Given the description of an element on the screen output the (x, y) to click on. 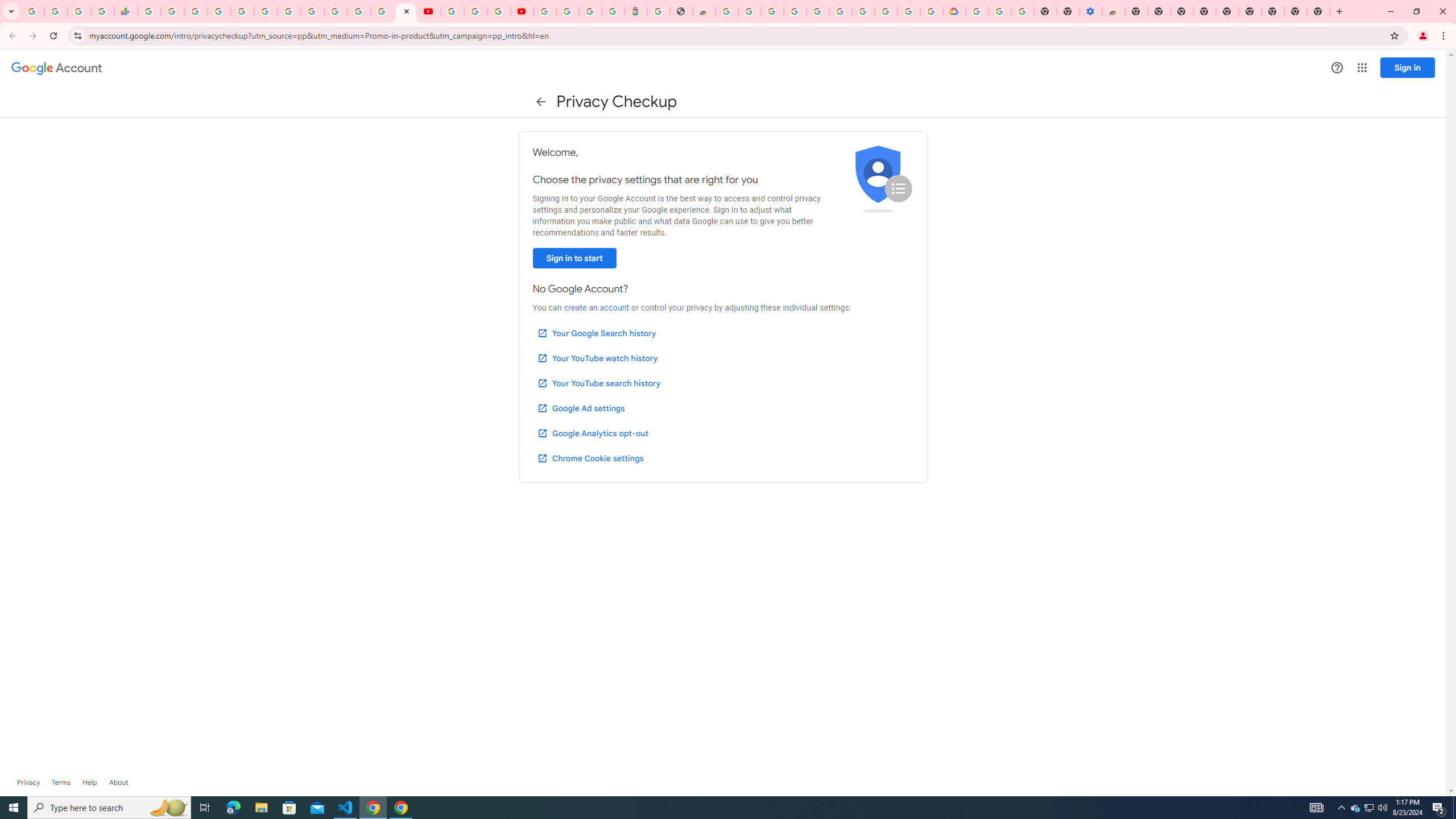
Google Workspace Admin Community (32, 11)
Learn more about Google Account (118, 782)
Sign in - Google Accounts (218, 11)
Privacy Checkup (405, 11)
Atour Hotel - Google hotels (635, 11)
Create your Google Account (909, 11)
create an account (595, 307)
